Given the description of an element on the screen output the (x, y) to click on. 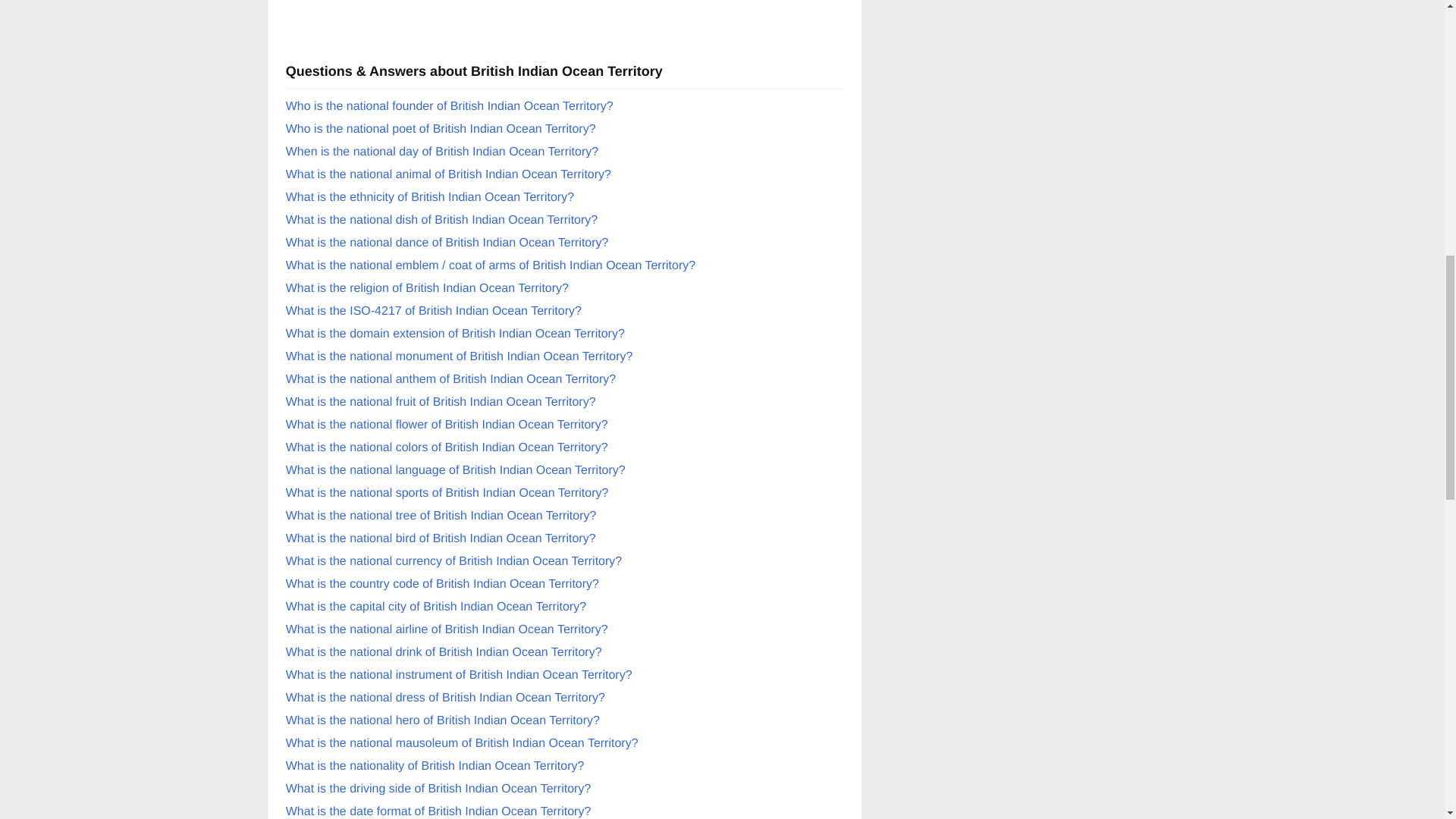
National founder of British Indian Ocean Territory (448, 106)
What is the ethnicity of British Indian Ocean Territory? (429, 196)
When is the national day of British Indian Ocean Territory? (441, 151)
What is the ISO-4217 of British Indian Ocean Territory? (432, 310)
National dance of British Indian Ocean Territory (446, 242)
National poet of British Indian Ocean Territory (440, 128)
Who is the national poet of British Indian Ocean Territory? (440, 128)
Ethnicity of British Indian Ocean Territory (429, 196)
National anthem of British Indian Ocean Territory (450, 379)
